Given the description of an element on the screen output the (x, y) to click on. 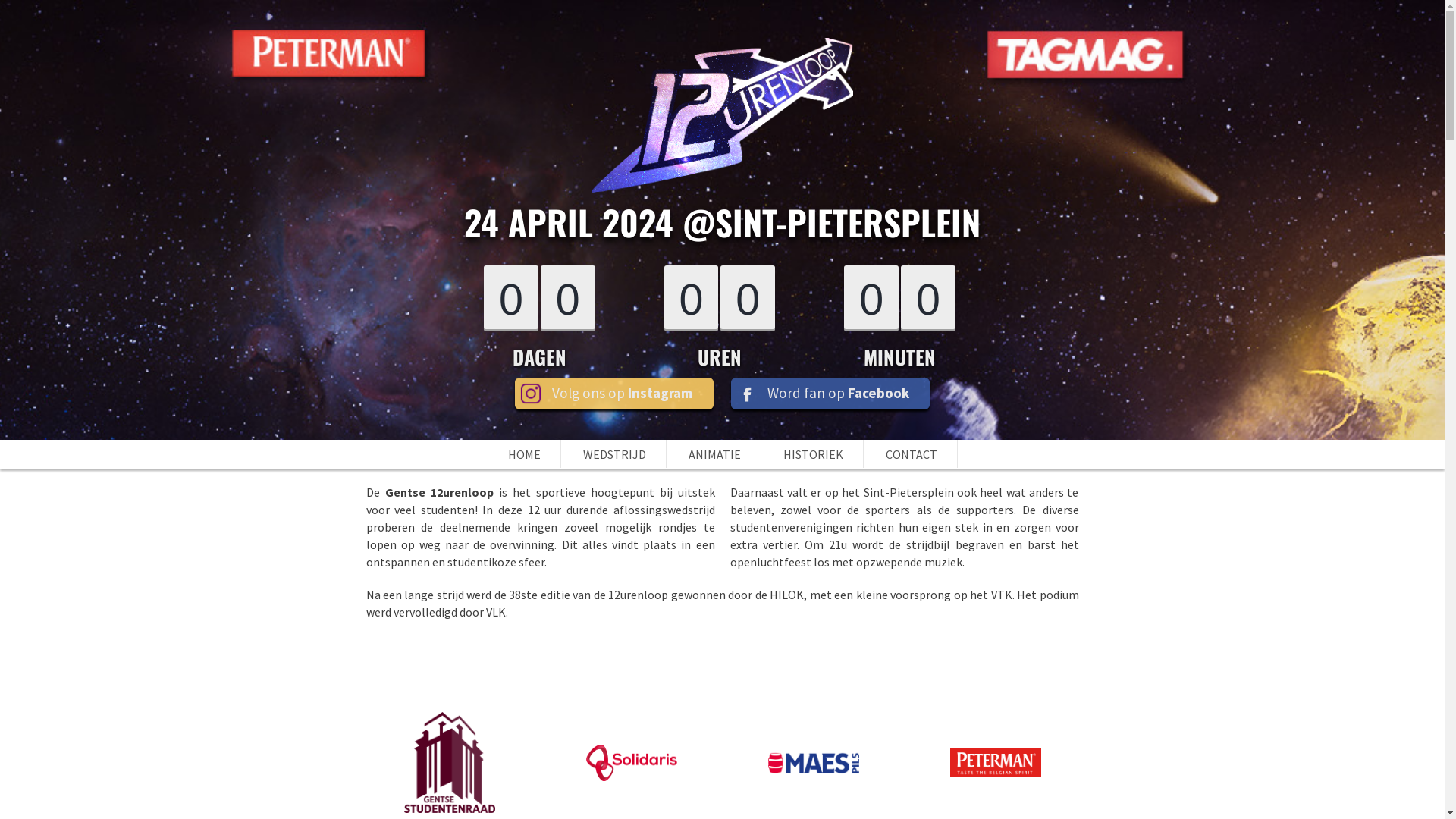
HOME Element type: text (524, 453)
HISTORIEK Element type: text (812, 453)
CONTACT Element type: text (911, 453)
ANIMATIE Element type: text (714, 453)
Word fan op Facebook Element type: text (830, 393)
WEDSTRIJD Element type: text (613, 453)
Volg ons op Instagram Element type: text (613, 393)
